Given the description of an element on the screen output the (x, y) to click on. 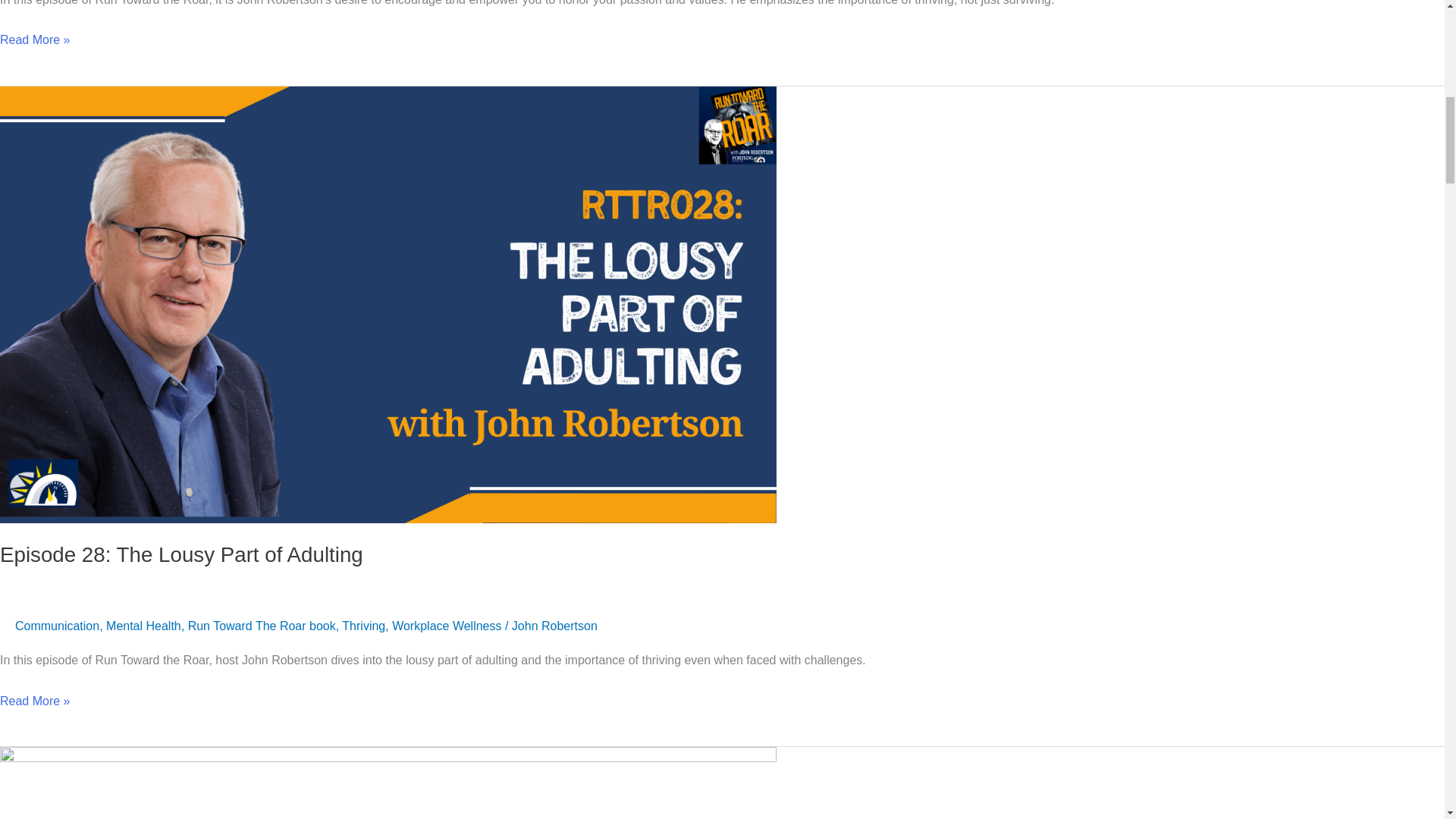
Workplace Wellness (445, 625)
Run Toward The Roar book (261, 625)
John Robertson (554, 625)
Thriving (363, 625)
Episode 28: The Lousy Part of Adulting (181, 554)
Communication (56, 625)
Mental Health (143, 625)
View all posts by John Robertson (554, 625)
